Given the description of an element on the screen output the (x, y) to click on. 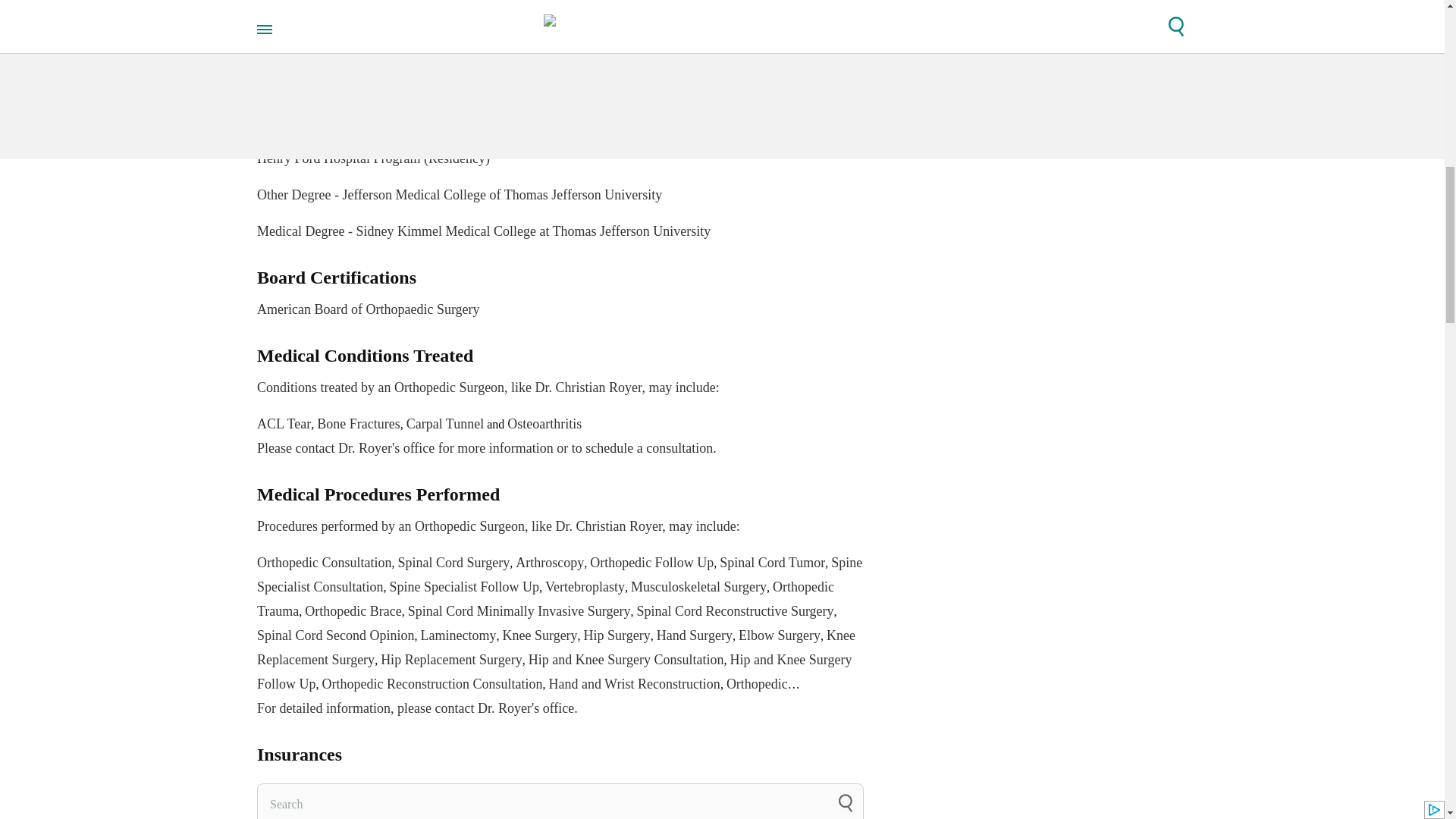
Spine Specialist Consultation (559, 574)
Spinal Cord Surgery (453, 562)
Orthopedic Consultation (324, 562)
Spinal Cord Reconstructive Surgery (734, 611)
ACL Tear (284, 423)
Hand Surgery (694, 635)
Orthopedic Follow Up (651, 562)
Orthopedic Reconstruction Consultation (432, 683)
Spine Specialist Follow Up (465, 586)
Osteoarthritis (543, 423)
